Given the description of an element on the screen output the (x, y) to click on. 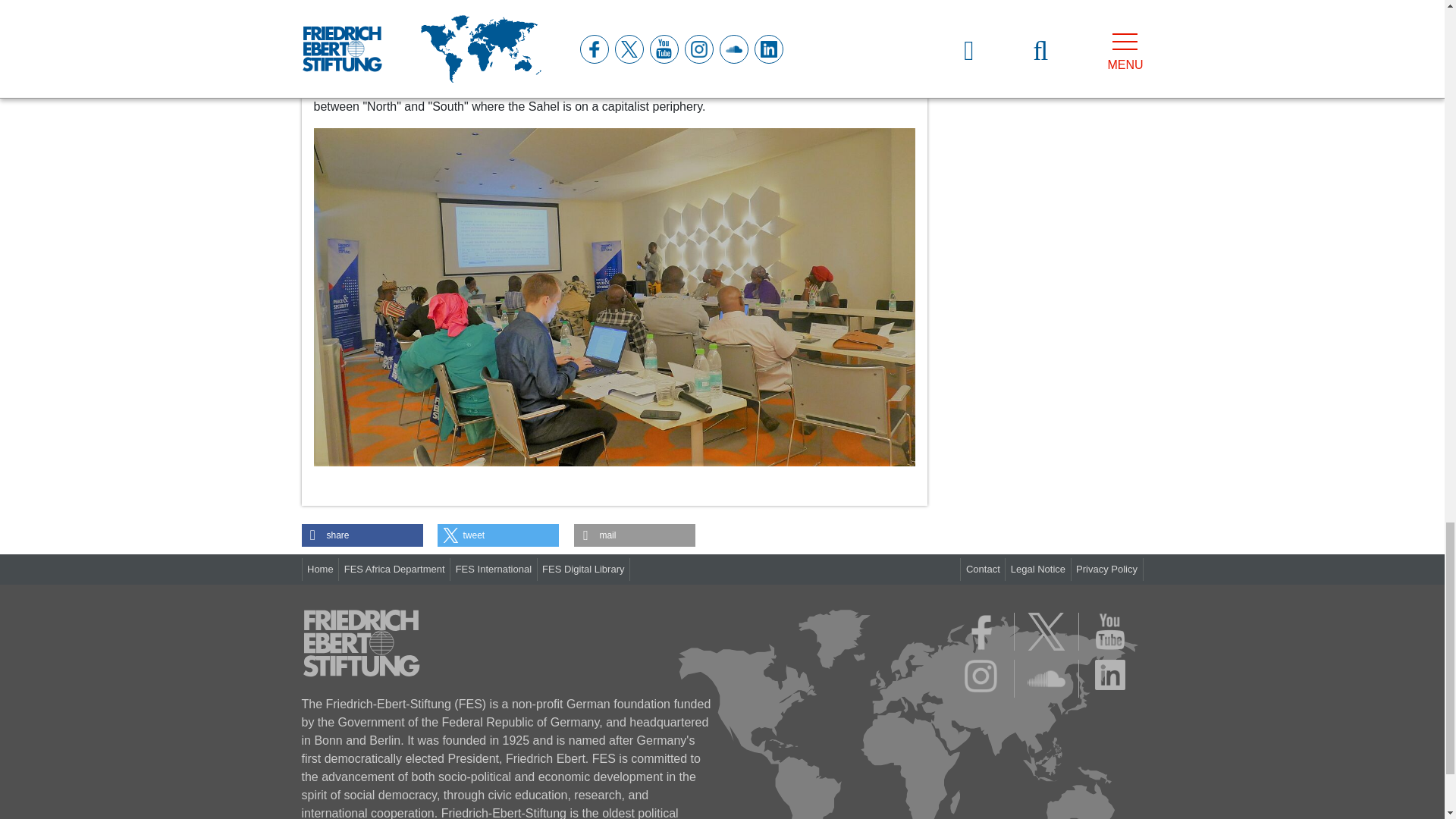
Send by email (634, 535)
Share on Facebook (362, 535)
Share on Twitter (498, 535)
